Given the description of an element on the screen output the (x, y) to click on. 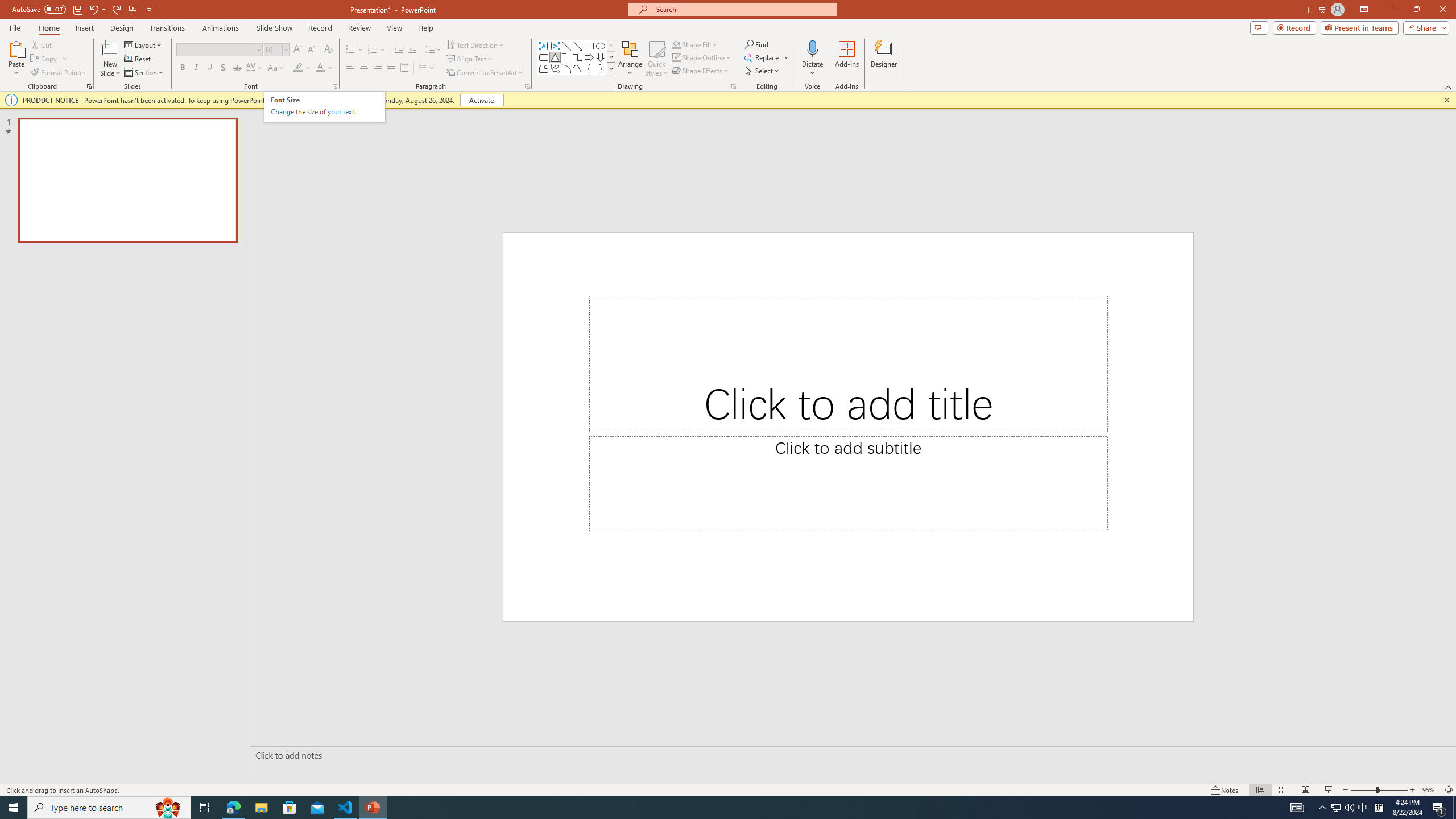
Zoom 95% (1430, 790)
